Given the description of an element on the screen output the (x, y) to click on. 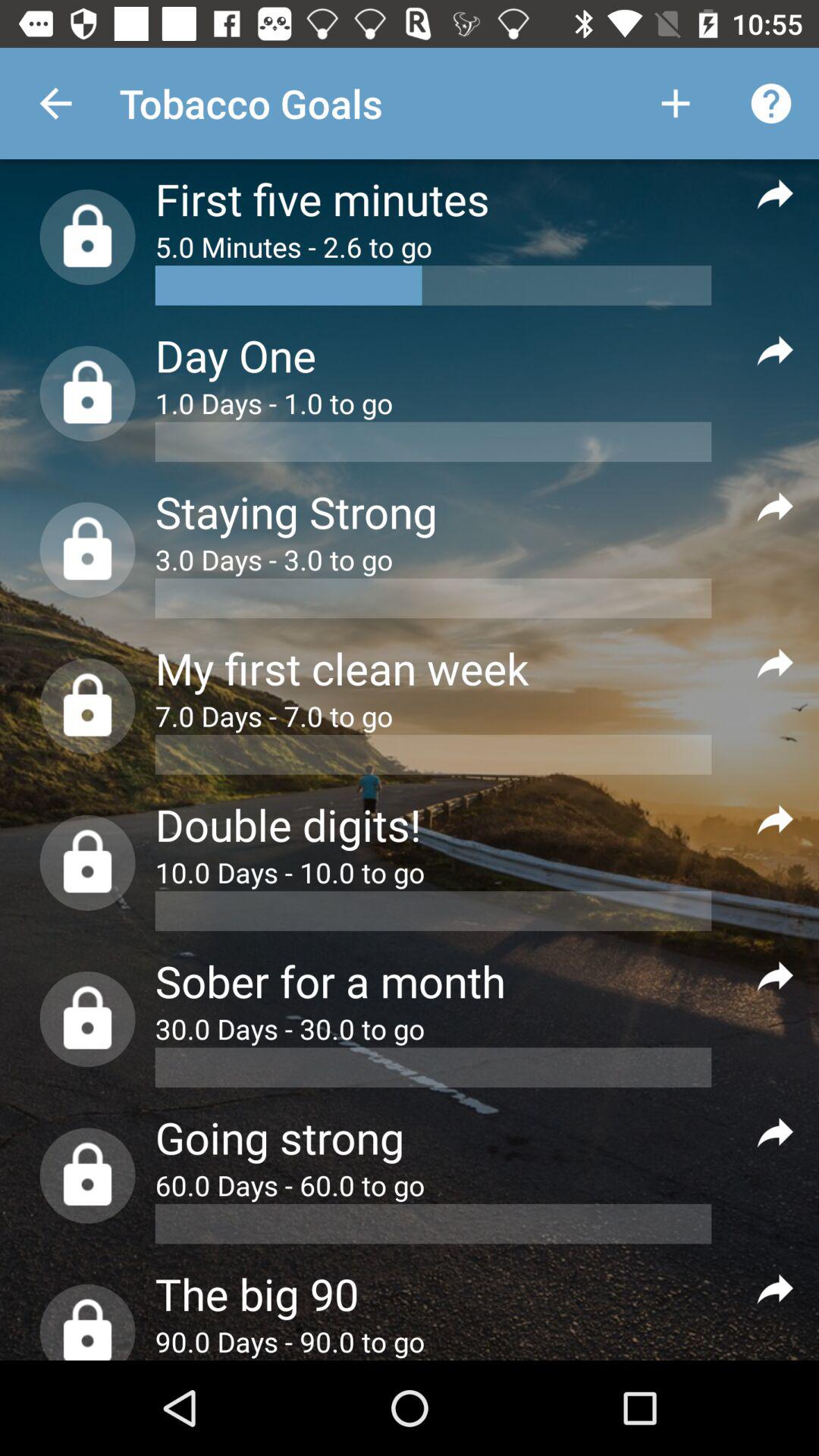
share goal (775, 349)
